Given the description of an element on the screen output the (x, y) to click on. 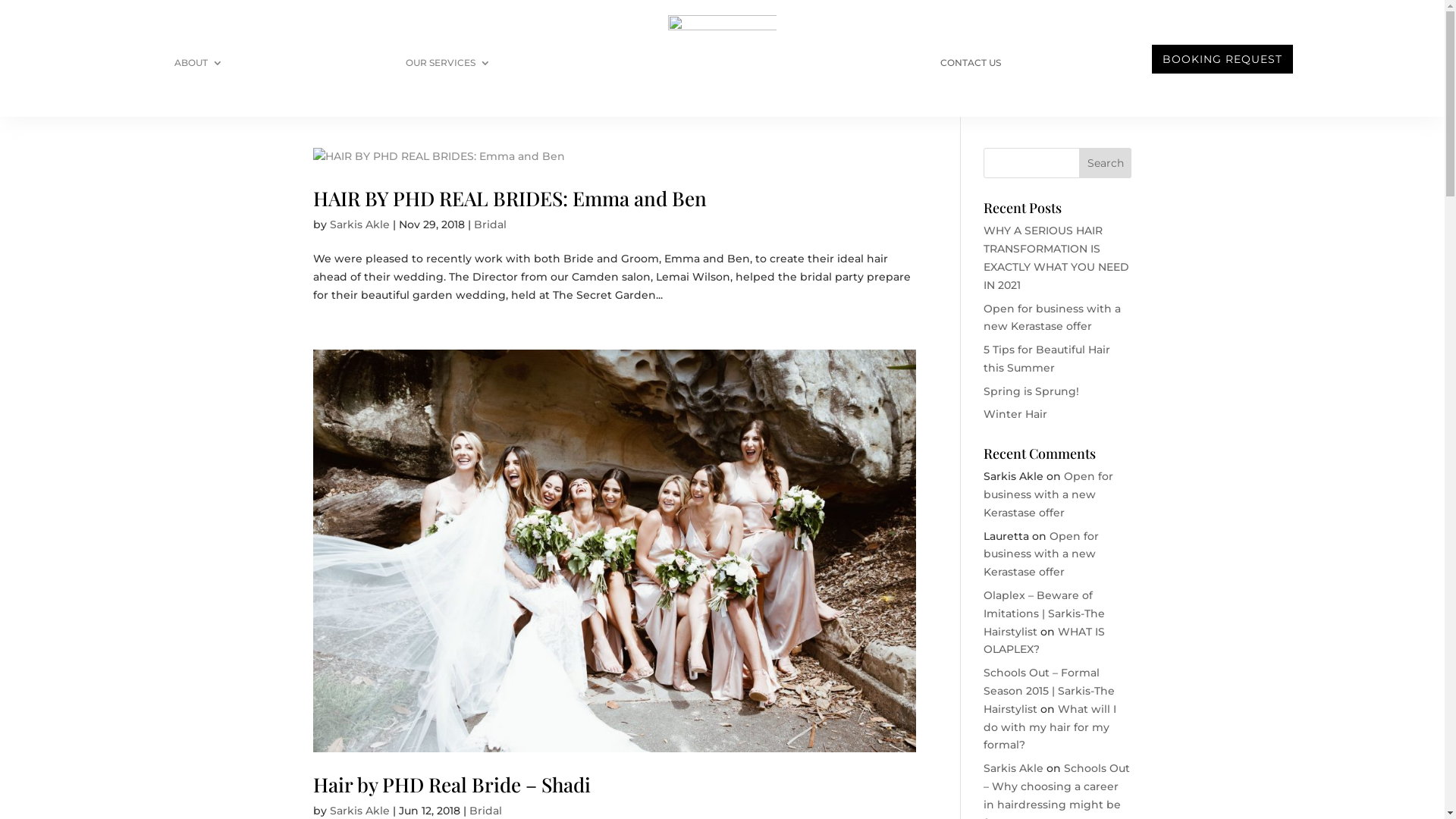
5 Tips for Beautiful Hair this Summer Element type: text (1046, 358)
ABOUT Element type: text (198, 65)
logo (6) Element type: hover (722, 59)
Open for business with a new Kerastase offer Element type: text (1048, 494)
Sarkis Akle Element type: text (359, 224)
What will I do with my hair for my formal? Element type: text (1049, 727)
Bridal Element type: text (484, 810)
WHAT IS OLAPLEX? Element type: text (1043, 640)
BOOKING REQUEST Element type: text (1221, 58)
CONTACT US Element type: text (970, 65)
Spring is Sprung! Element type: text (1031, 391)
Bridal Element type: text (489, 224)
Open for business with a new Kerastase offer Element type: text (1051, 317)
HAIR BY PHD REAL BRIDES: Emma and Ben Element type: text (509, 198)
Winter Hair Element type: text (1015, 413)
OUR SERVICES Element type: text (447, 65)
Sarkis Akle Element type: text (359, 810)
Open for business with a new Kerastase offer Element type: text (1040, 554)
Sarkis Akle Element type: text (1013, 768)
Search Element type: text (1105, 162)
